Given the description of an element on the screen output the (x, y) to click on. 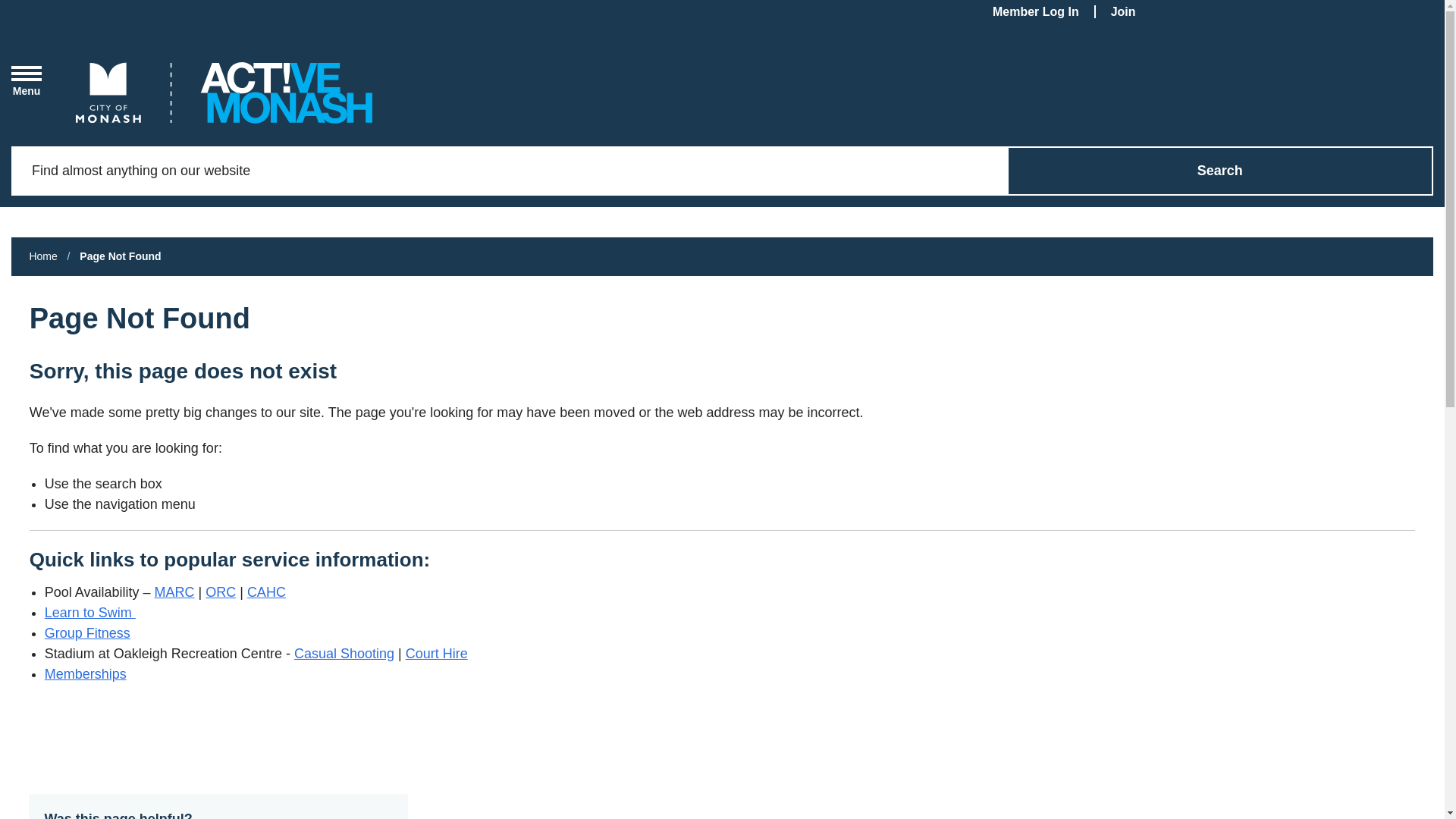
Court Hire Element type: text (436, 653)
Join Element type: text (1130, 11)
CAHC Element type: text (266, 591)
ORC Element type: text (220, 591)
Member Log In Element type: text (1043, 11)
Open side
Menu Element type: text (26, 80)
Search Element type: text (1220, 170)
Learn to Swim  Element type: text (89, 612)
Casual Shooting Element type: text (344, 653)
Group Fitness Element type: text (87, 632)
MARC Element type: text (174, 591)
Home - City of Monash - Logo Element type: text (223, 92)
Memberships Element type: text (85, 673)
Home Element type: text (42, 256)
